Given the description of an element on the screen output the (x, y) to click on. 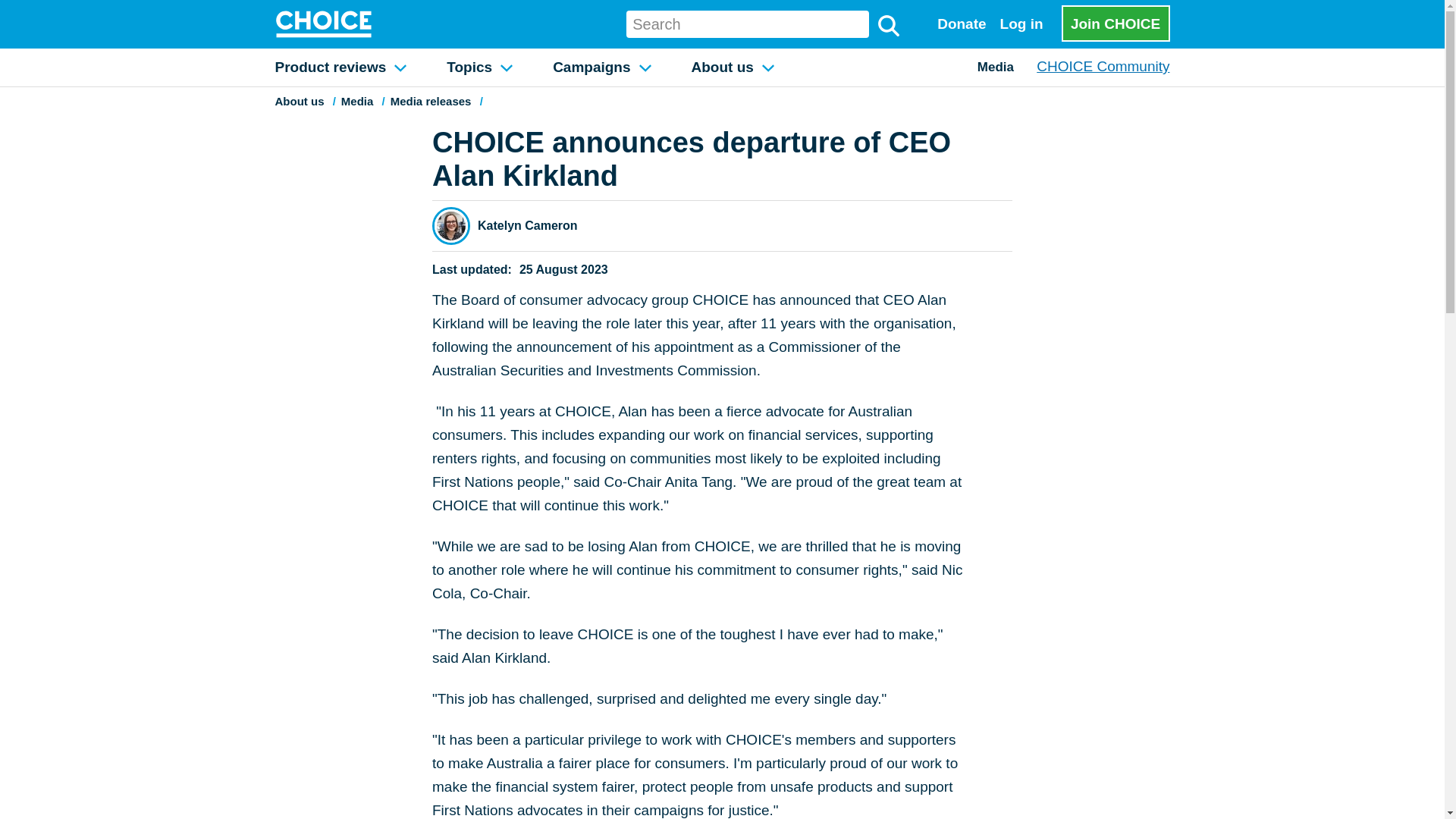
Katelyn Cameron (527, 224)
CHOICE Community (1102, 66)
About us (732, 67)
Topics (478, 67)
Donate (961, 24)
Log in (1021, 24)
About us (299, 101)
Media (357, 101)
Media (997, 67)
Media releases (430, 101)
